Given the description of an element on the screen output the (x, y) to click on. 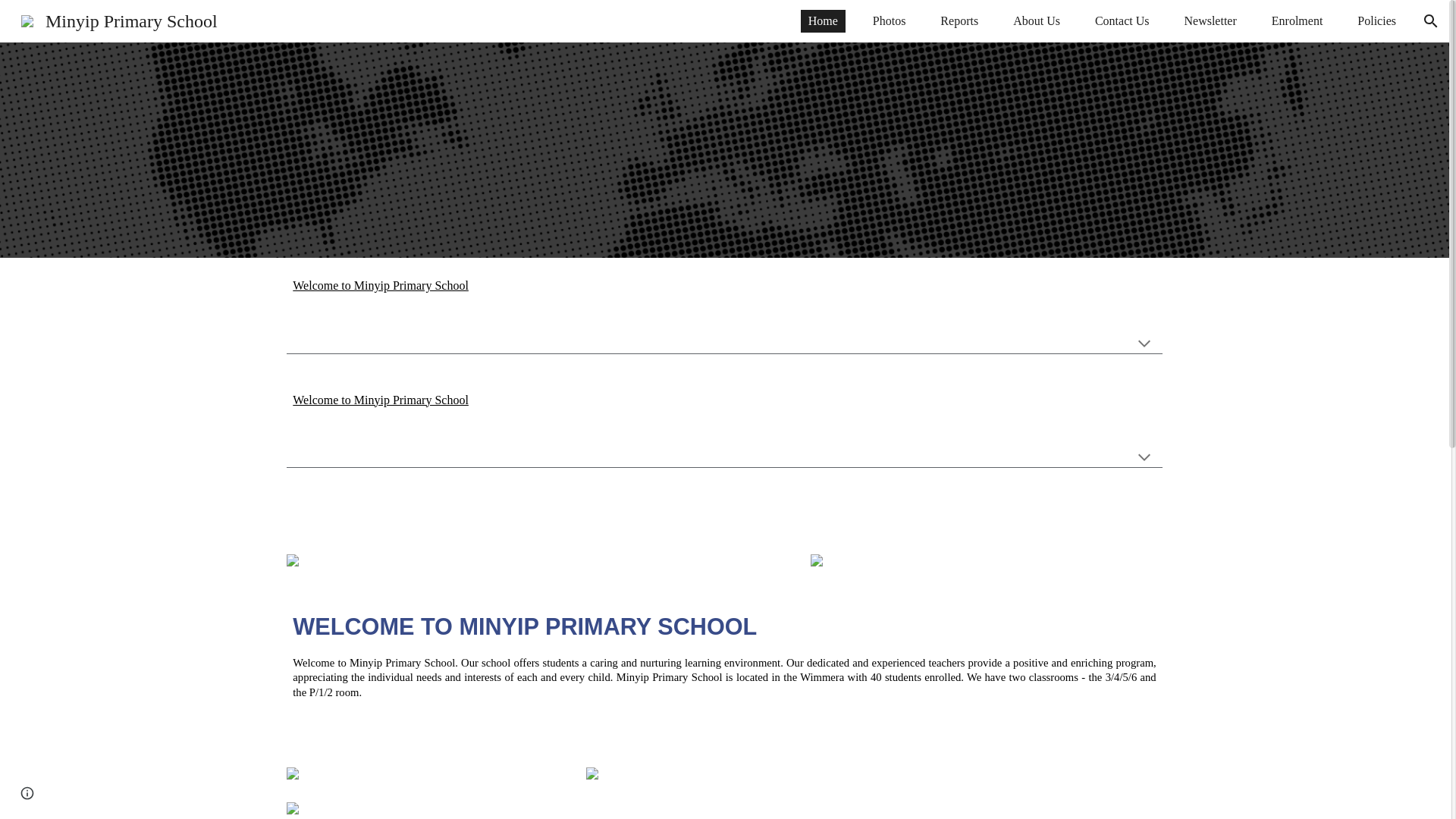
About Us (1036, 20)
Newsletter (1209, 20)
Photos (889, 20)
Minyip Primary School (119, 19)
Welcome to Minyip Primary School (380, 399)
Reports (959, 20)
Enrolment (1296, 20)
Home (822, 20)
Welcome to Minyip Primary School (380, 285)
Policies (1376, 20)
Contact Us (1122, 20)
